Given the description of an element on the screen output the (x, y) to click on. 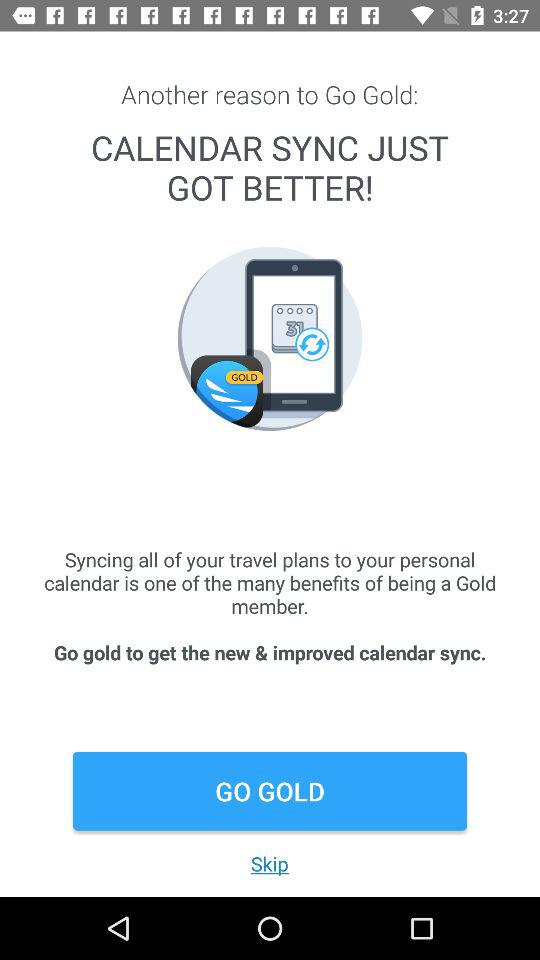
launch the skip item (269, 863)
